Given the description of an element on the screen output the (x, y) to click on. 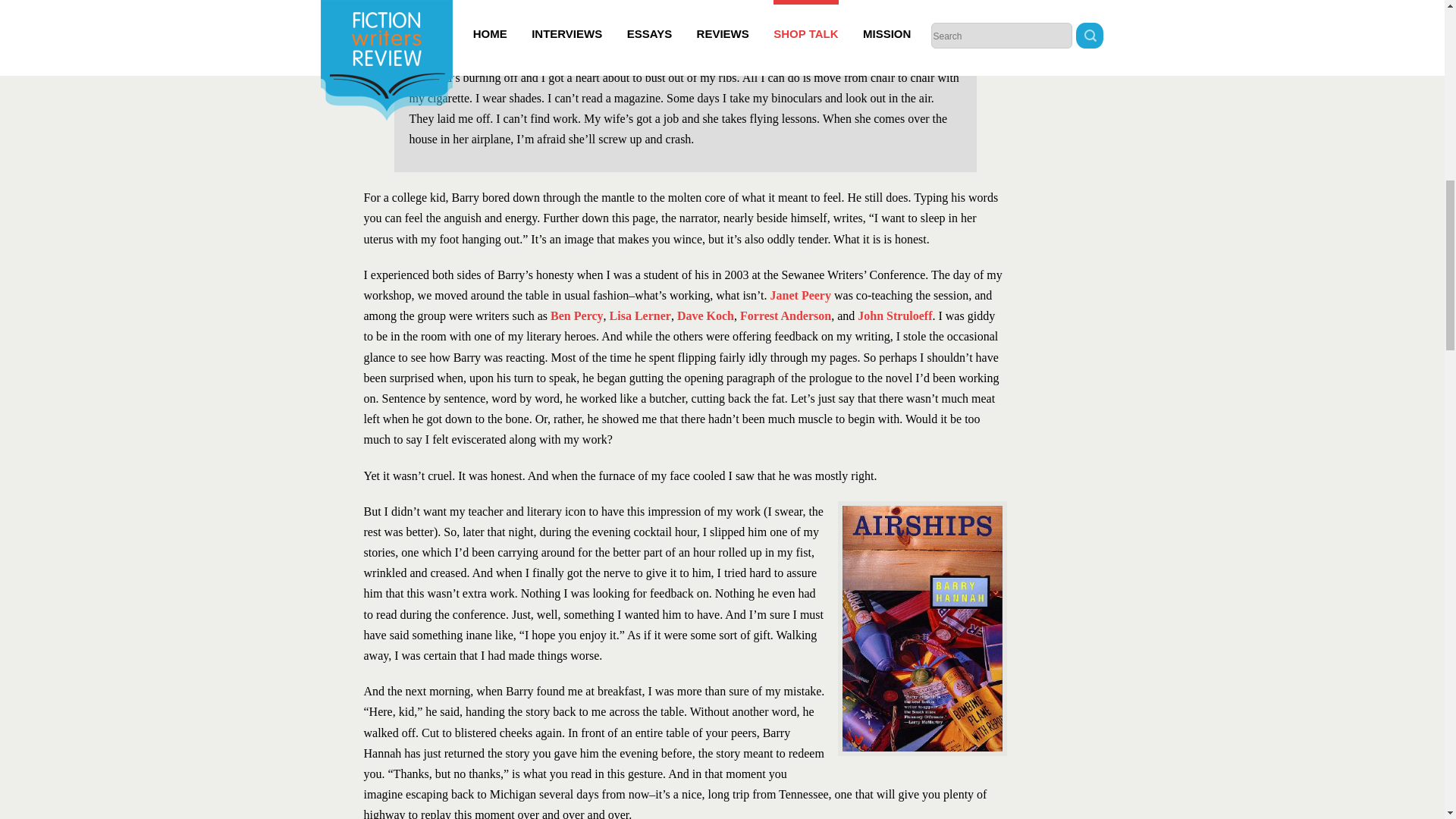
Ben Percy (576, 315)
Lisa Lerner (640, 315)
John Struloeff (894, 315)
Forrest Anderson (785, 315)
Janet Peery (800, 295)
Dave Koch (705, 315)
